Given the description of an element on the screen output the (x, y) to click on. 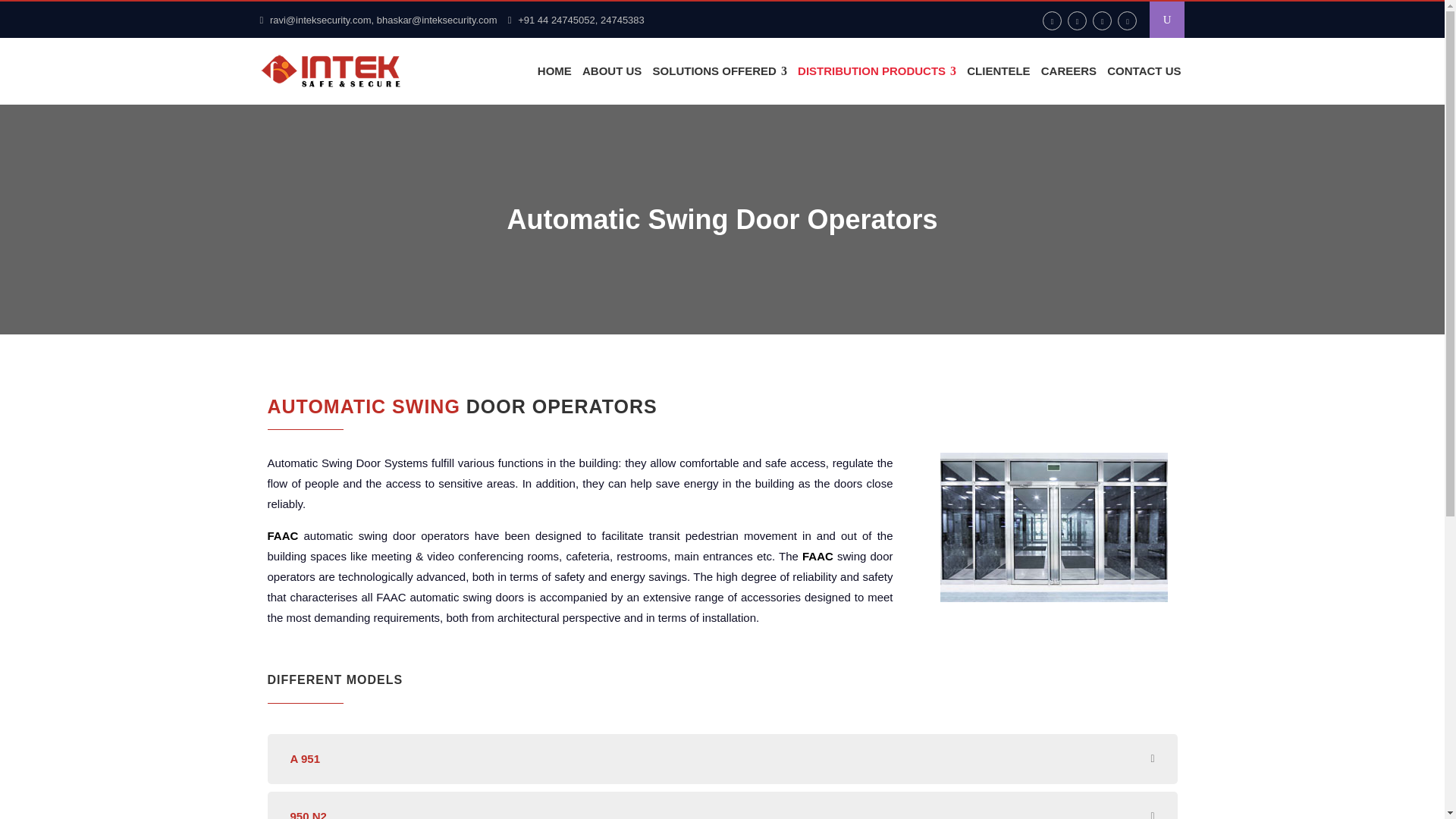
facebook (1051, 20)
ABOUT US (611, 70)
youtube (1127, 20)
instagram (1076, 20)
AUTOMATIC SWING DOOR OPERATORS (509, 410)
HOME (554, 70)
DIFFERENT MODELS (509, 682)
linkedin (1102, 20)
